Given the description of an element on the screen output the (x, y) to click on. 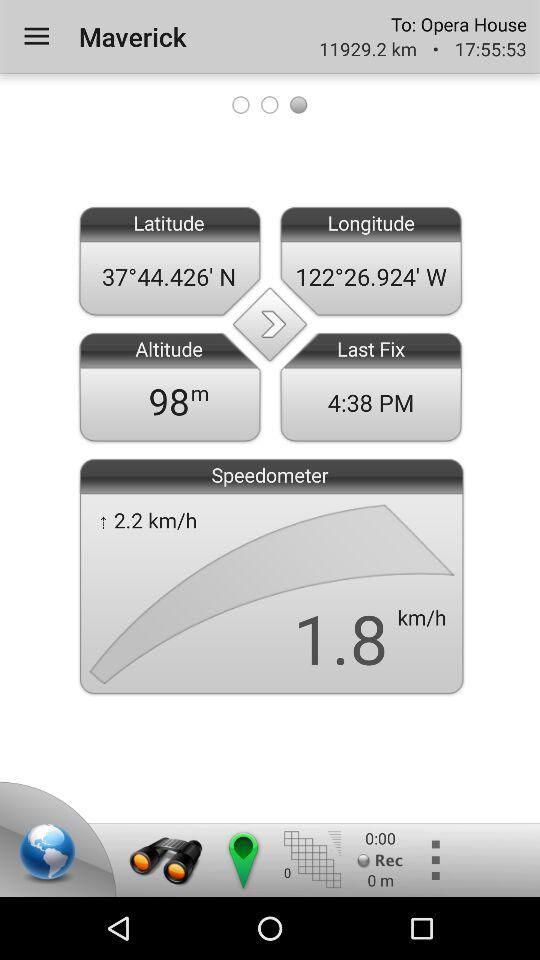
select additional options for gps (434, 860)
